Given the description of an element on the screen output the (x, y) to click on. 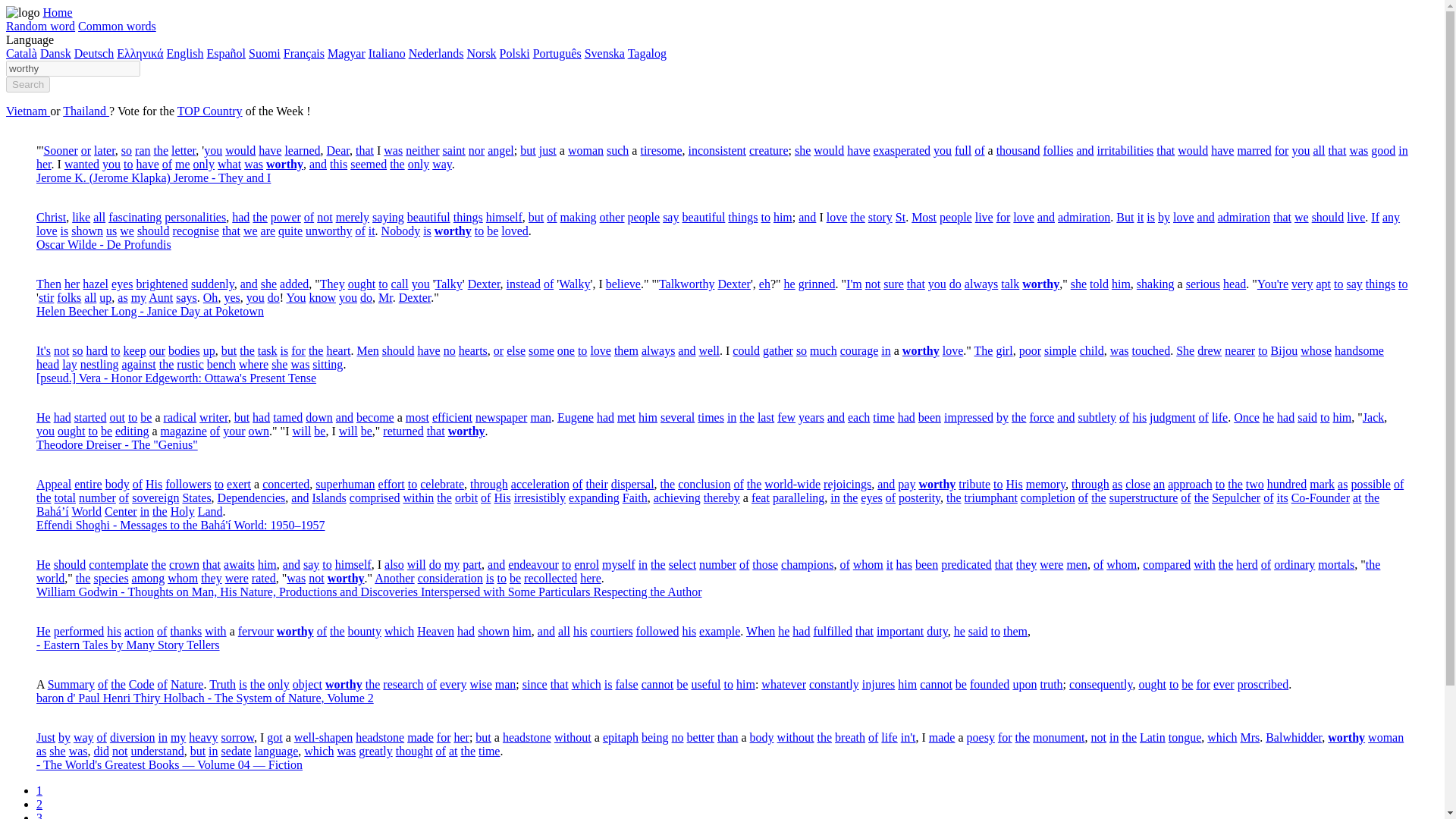
Click to find the word in context (126, 150)
Dansk (55, 52)
the (161, 150)
Tagalog (646, 52)
Click to find the word in context (85, 150)
Click to find the word in context (393, 150)
Click to find the word in context (142, 150)
Click to find the word in context (301, 150)
would (240, 150)
TOP Country (210, 110)
Nederlands (436, 52)
Click to find the word in context (104, 150)
Suomi (264, 52)
Norsk (481, 52)
Click to find the word in context (161, 150)
